Given the description of an element on the screen output the (x, y) to click on. 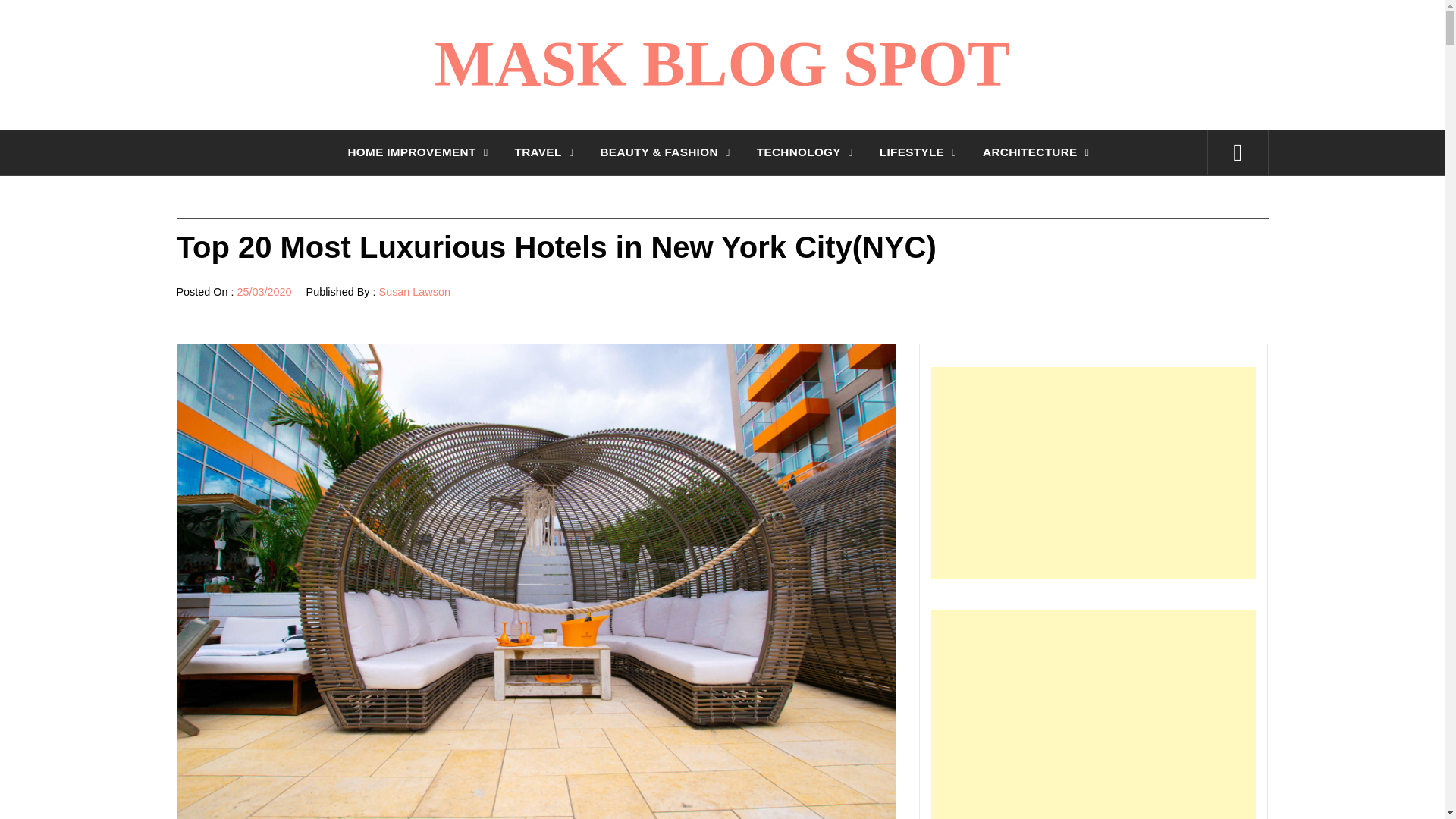
MASK BLOG SPOT (721, 63)
TECHNOLOGY (808, 152)
HOME IMPROVEMENT (420, 152)
Advertisement (1093, 714)
TRAVEL (547, 152)
Susan Lawson (413, 291)
ARCHITECTURE (1039, 152)
Advertisement (1093, 472)
LIFESTYLE (921, 152)
Search (797, 37)
